Given the description of an element on the screen output the (x, y) to click on. 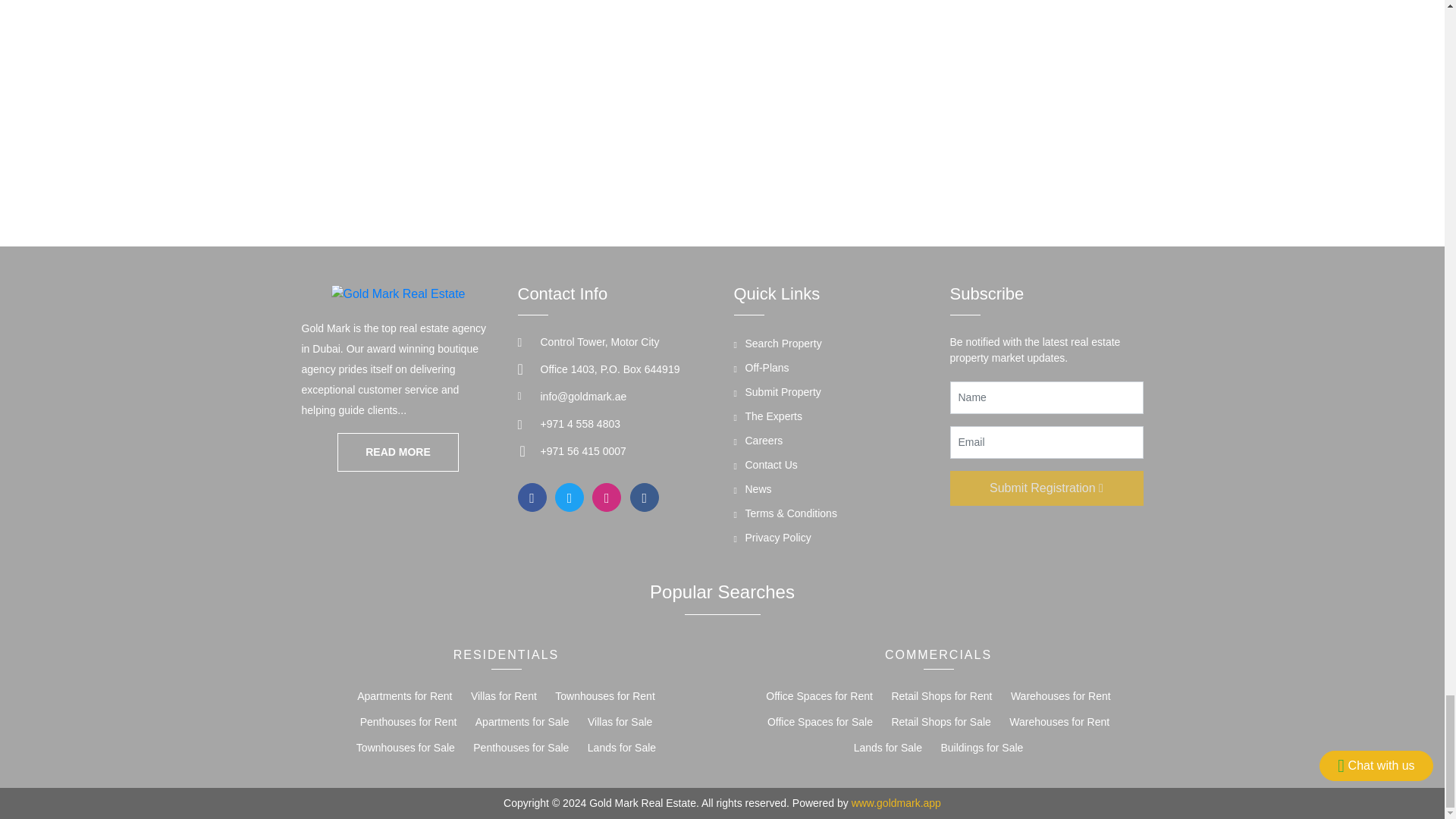
Submit Property (777, 394)
Off-Plans (761, 370)
Gold Mark Real Estate (397, 452)
Search Property (777, 345)
Gold Mark Real Estate (398, 292)
READ MORE (397, 452)
